Given the description of an element on the screen output the (x, y) to click on. 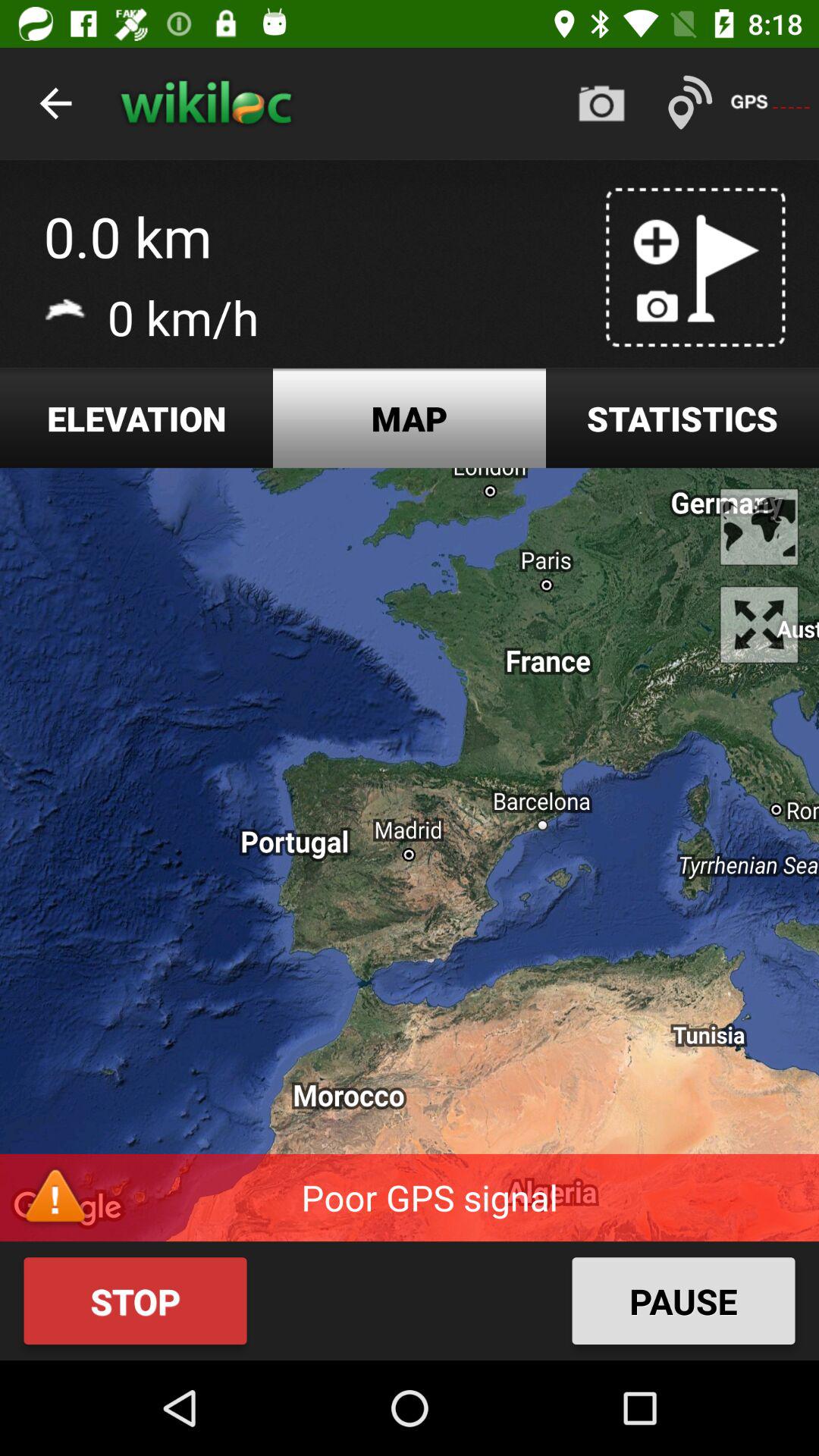
turn off the button to the left of map button (136, 418)
